Given the description of an element on the screen output the (x, y) to click on. 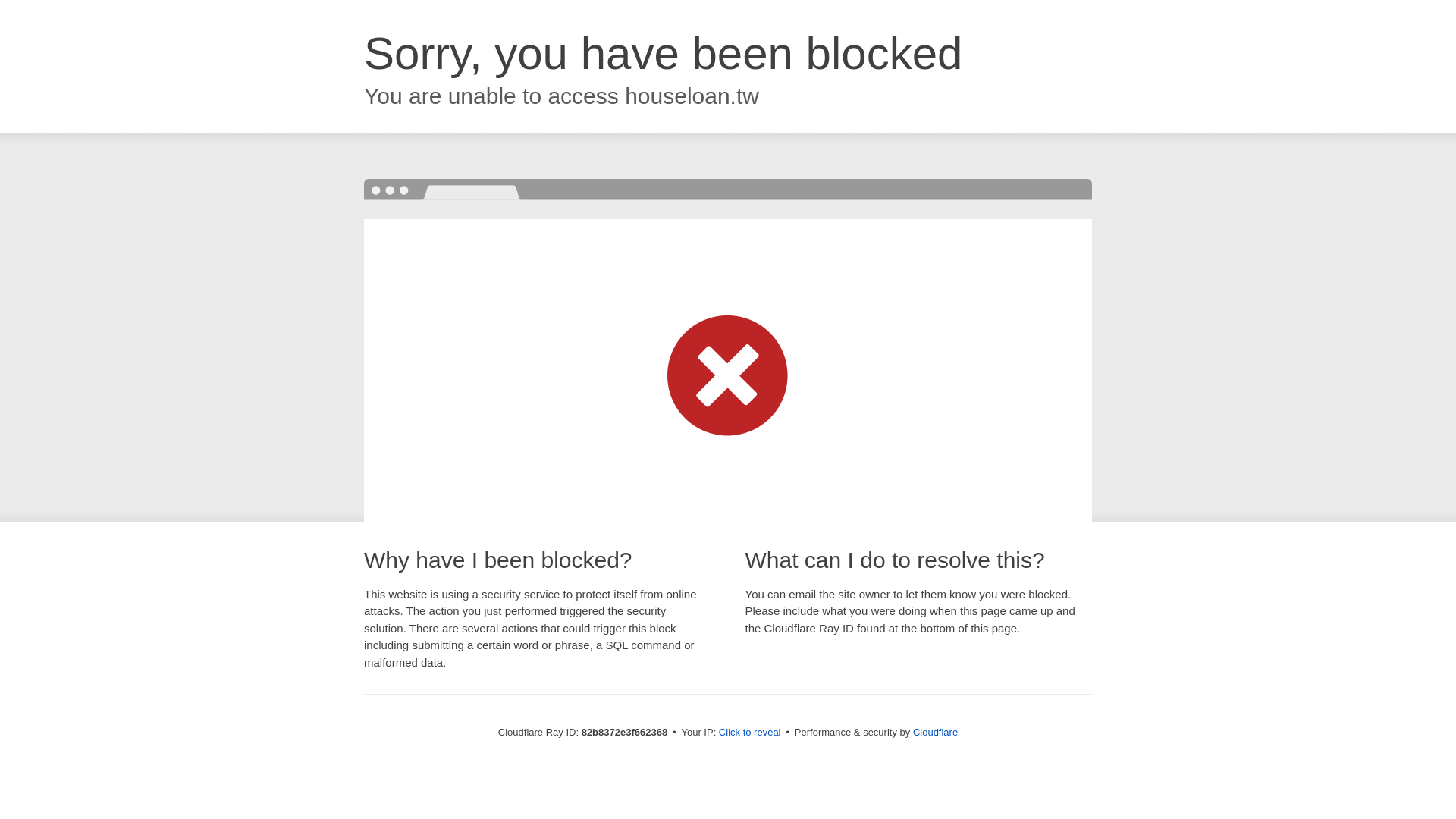
Cloudflare Element type: text (935, 731)
Click to reveal Element type: text (749, 732)
